Given the description of an element on the screen output the (x, y) to click on. 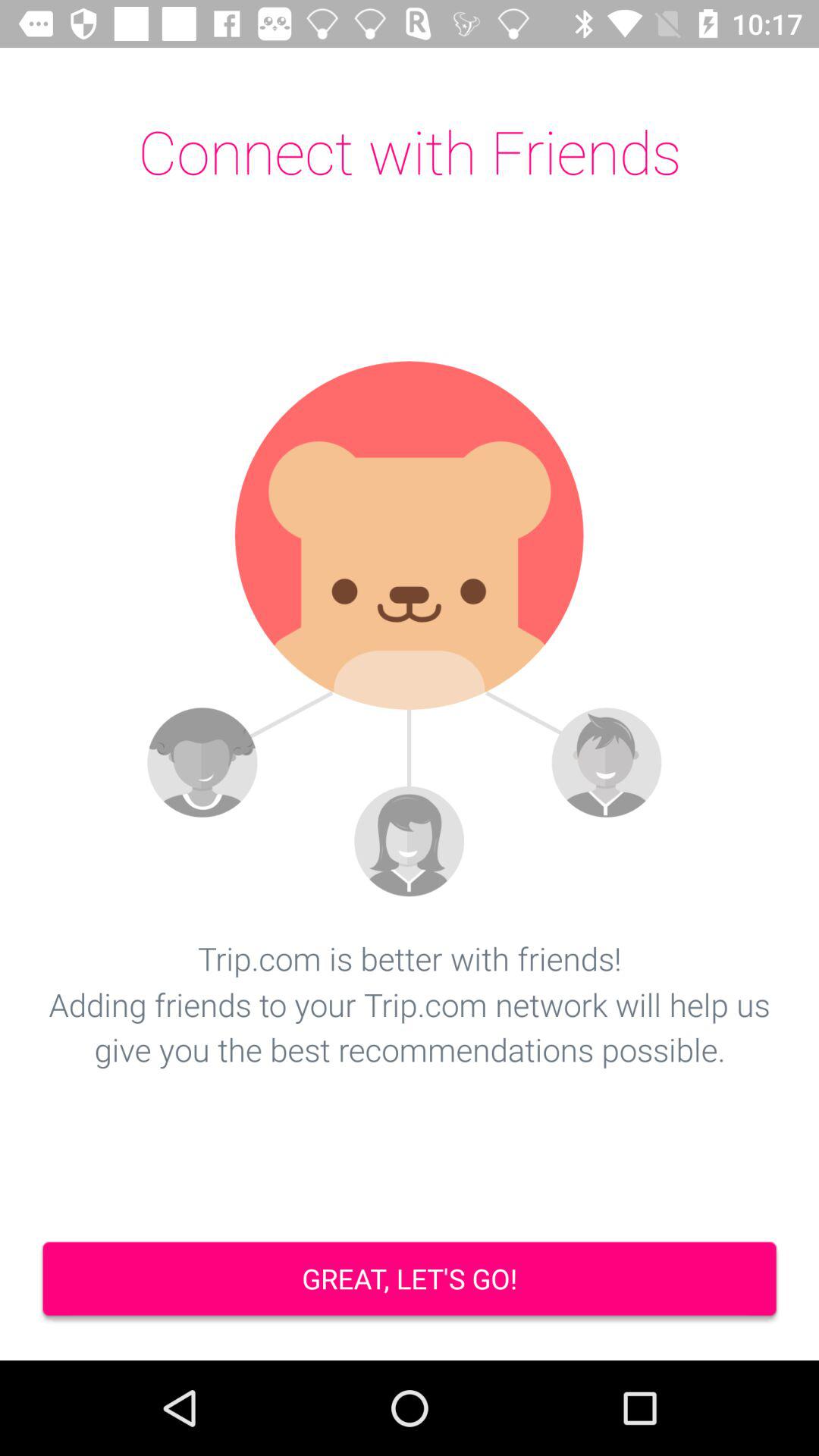
tap great let s (409, 1280)
